Given the description of an element on the screen output the (x, y) to click on. 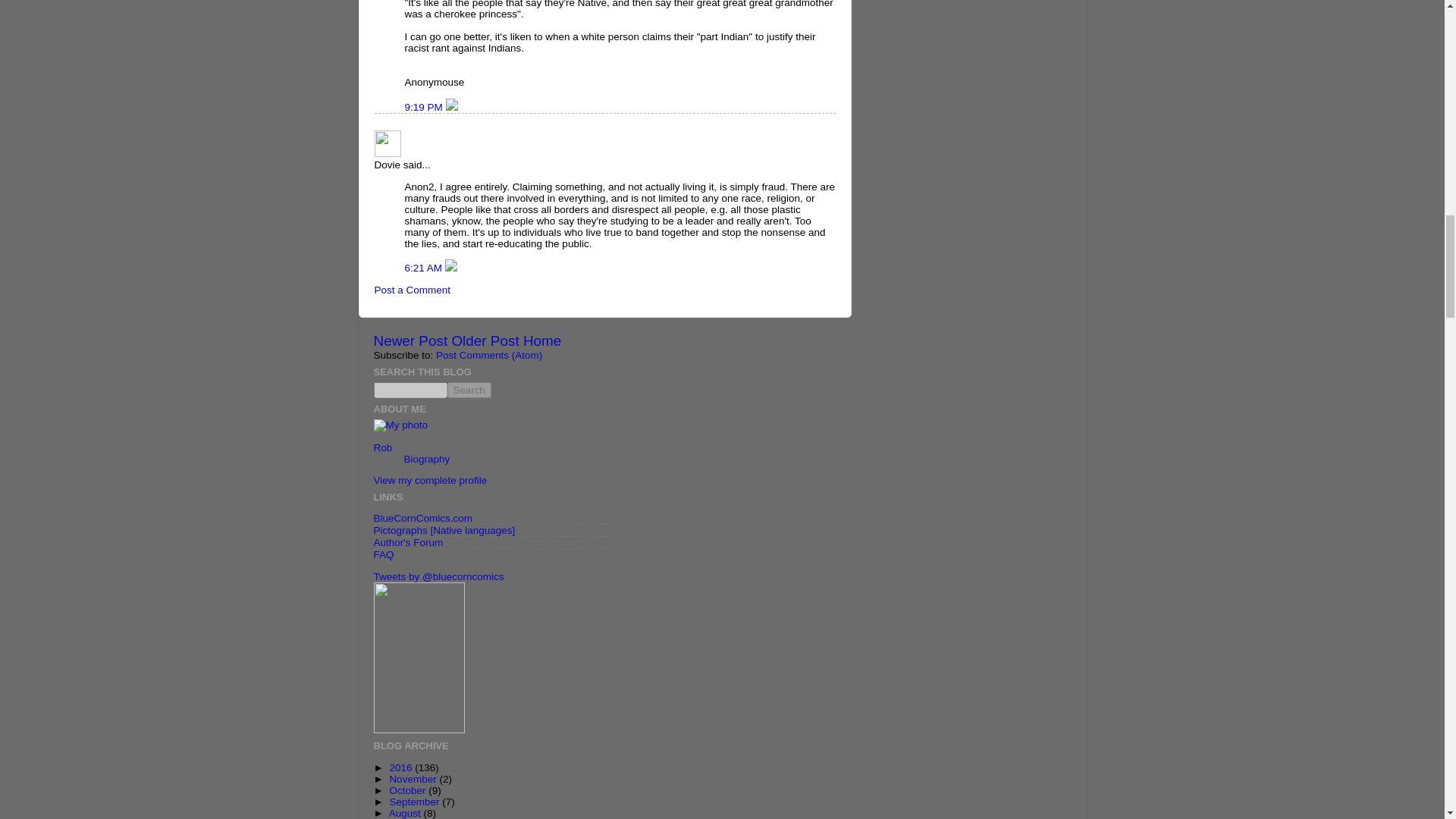
Newer Post (409, 340)
Older Post (484, 340)
Post a Comment (412, 289)
Search (469, 390)
Search (469, 390)
comment permalink (424, 107)
9:19 PM (424, 107)
Home (541, 340)
Delete Comment (451, 107)
6:21 AM (424, 267)
